Given the description of an element on the screen output the (x, y) to click on. 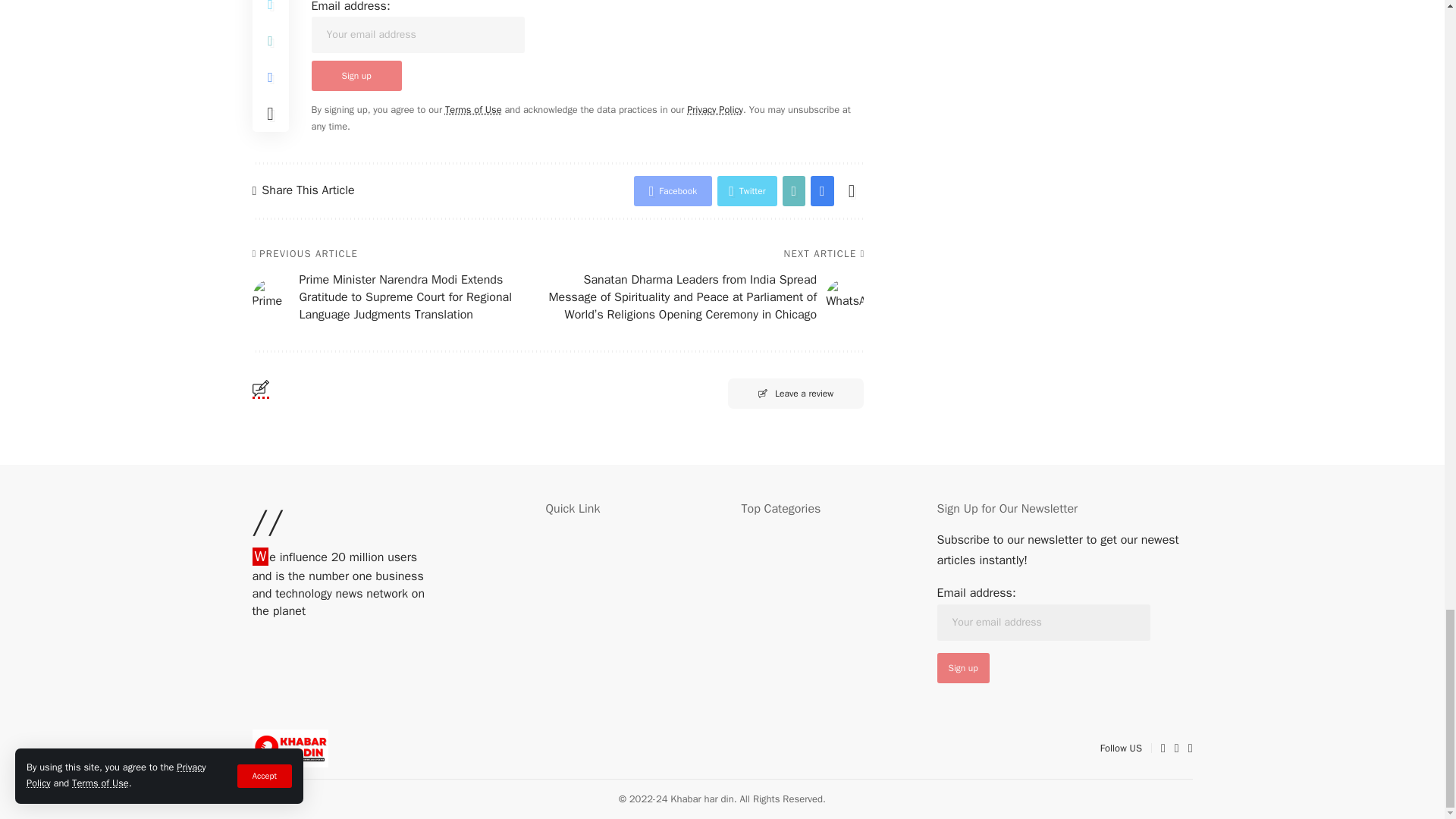
Sign up (356, 75)
Sign up (963, 667)
